Given the description of an element on the screen output the (x, y) to click on. 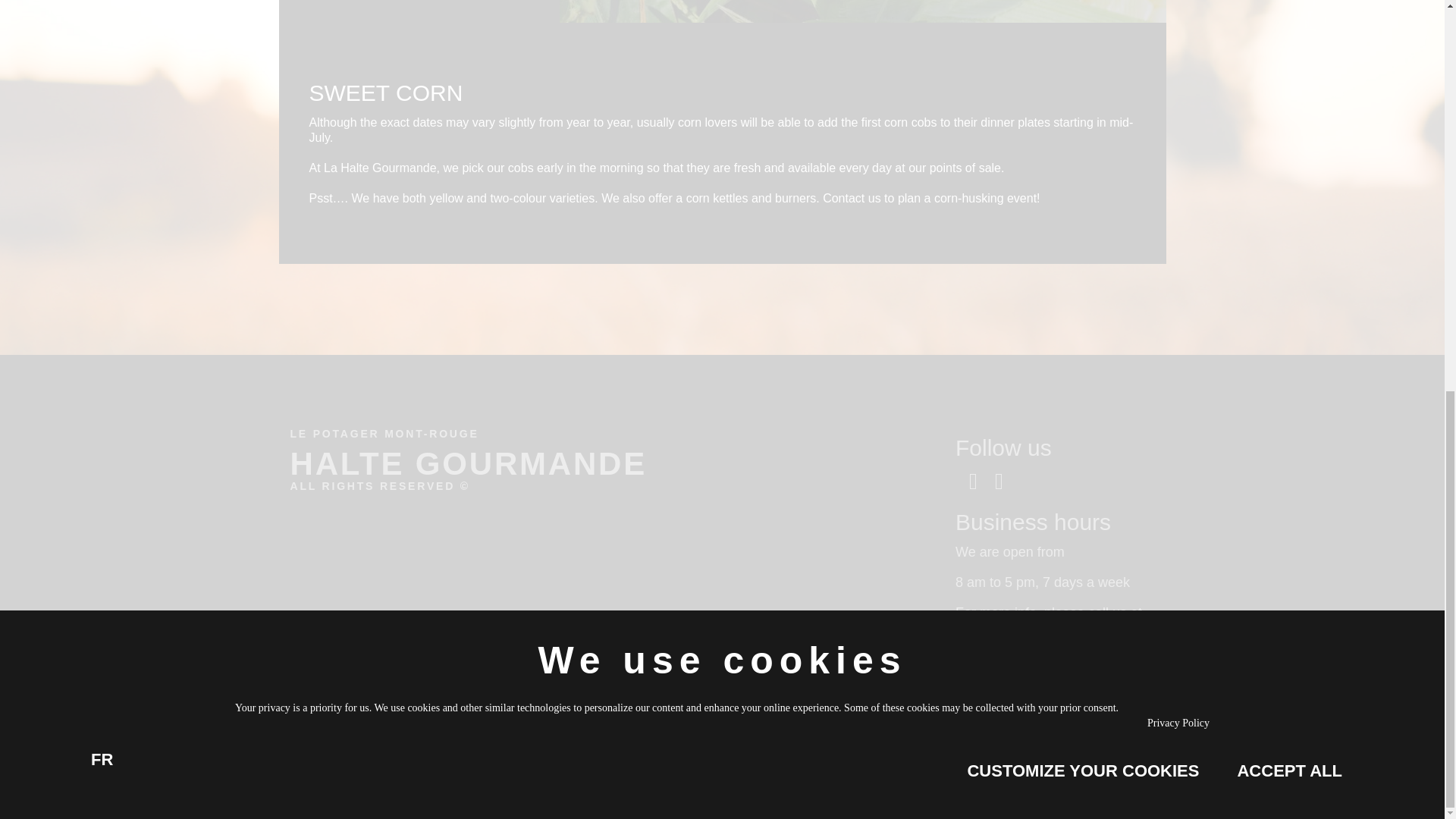
Privacy Policy (998, 657)
CUSTOMIZE YOUR COOKIES (1083, 29)
My cookies (985, 688)
ACCEPT ALL (1288, 29)
English (1047, 741)
